Given the description of an element on the screen output the (x, y) to click on. 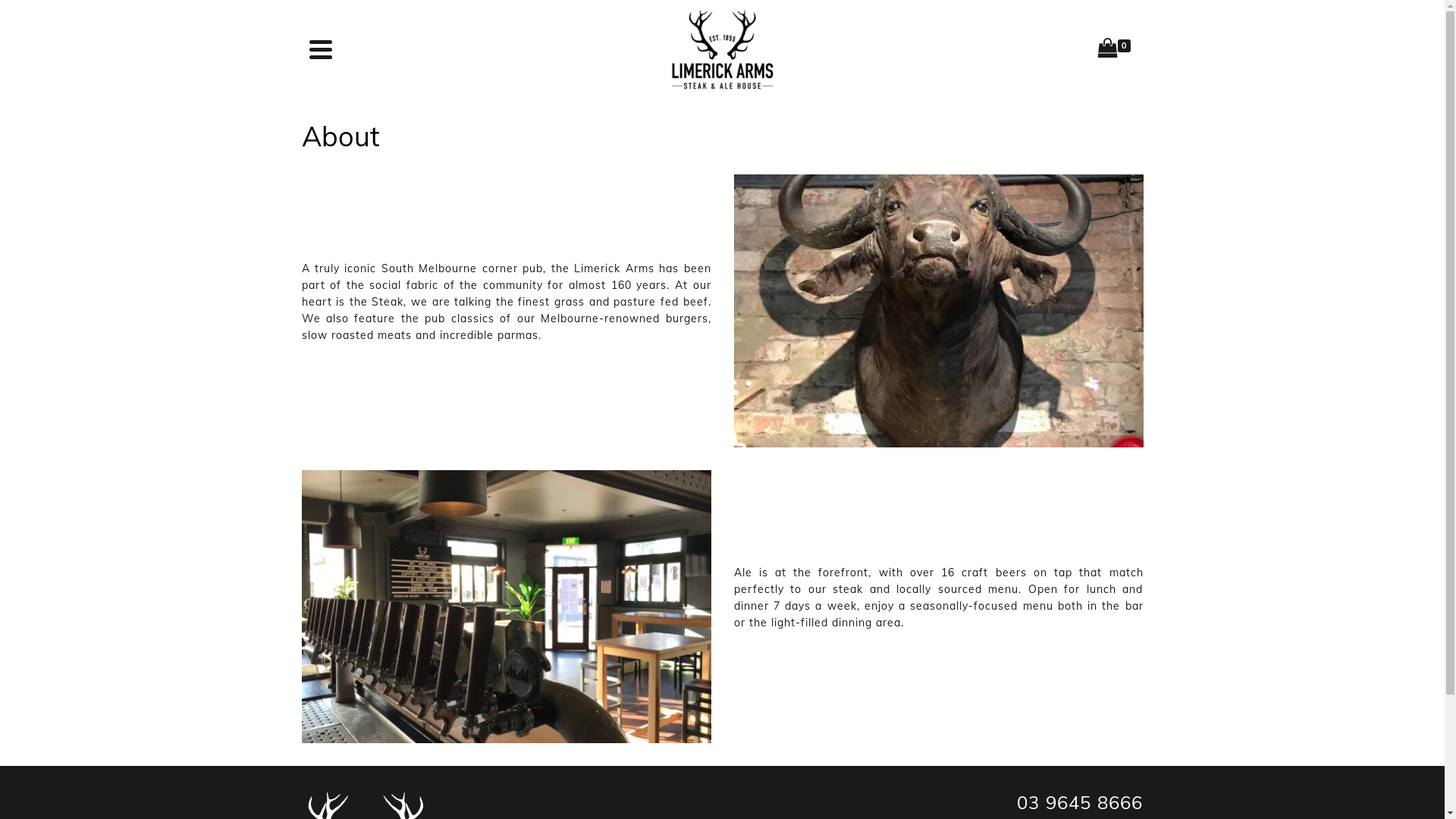
0 Element type: text (1116, 49)
